Given the description of an element on the screen output the (x, y) to click on. 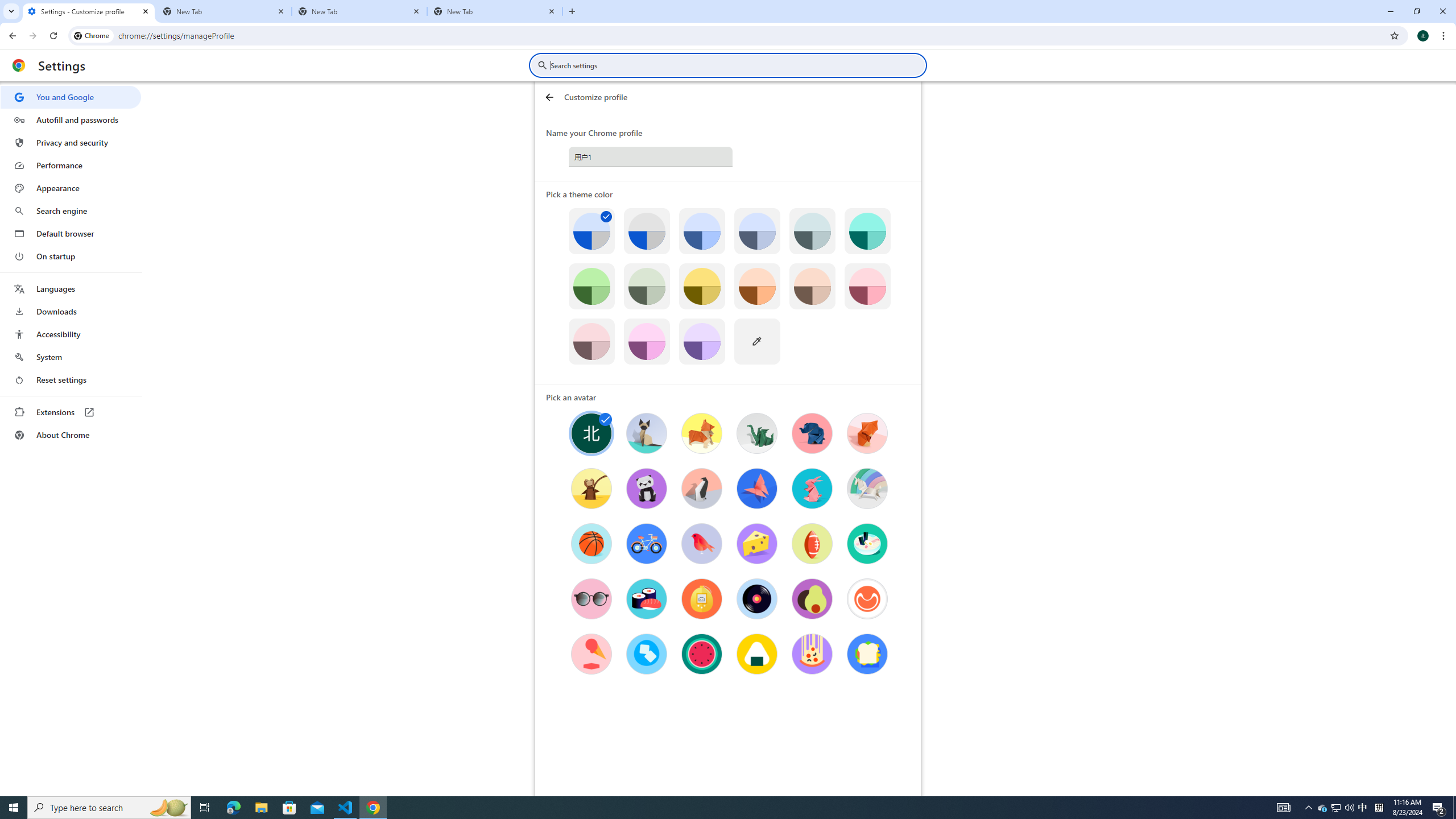
You and Google (70, 96)
On startup (70, 255)
Autofill and passwords (70, 119)
Privacy and security (70, 142)
AutomationID: menu (71, 265)
New Tab (359, 11)
Search engine (70, 210)
New Tab (494, 11)
New Tab (224, 11)
